Given the description of an element on the screen output the (x, y) to click on. 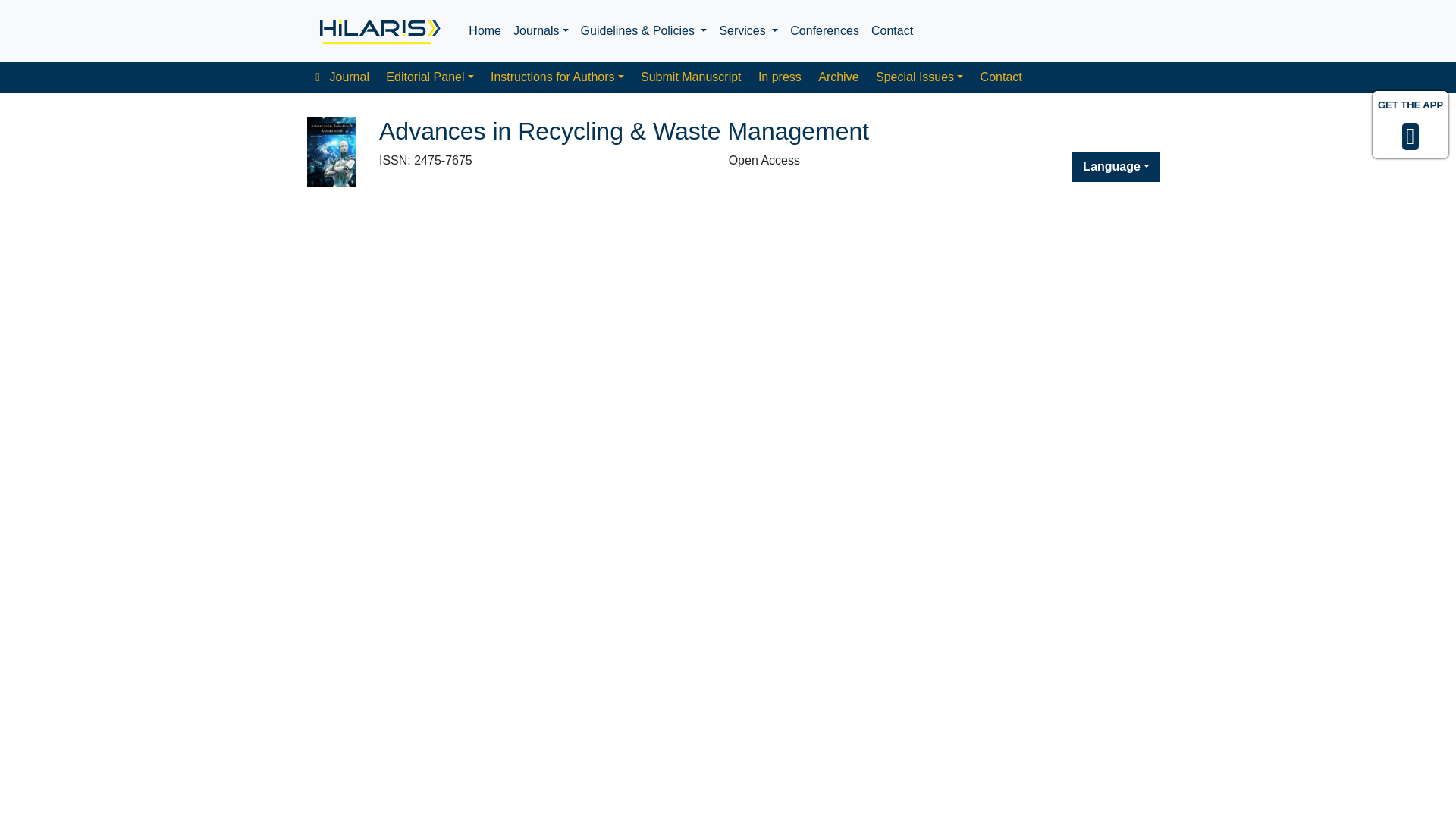
Click here (484, 30)
Conferences (824, 30)
Services (748, 30)
Home (484, 30)
Submit Manuscript (690, 77)
Editorial Panel (429, 77)
Contact (1000, 77)
Click here (378, 30)
Journal Home (342, 77)
In press (779, 77)
